Given the description of an element on the screen output the (x, y) to click on. 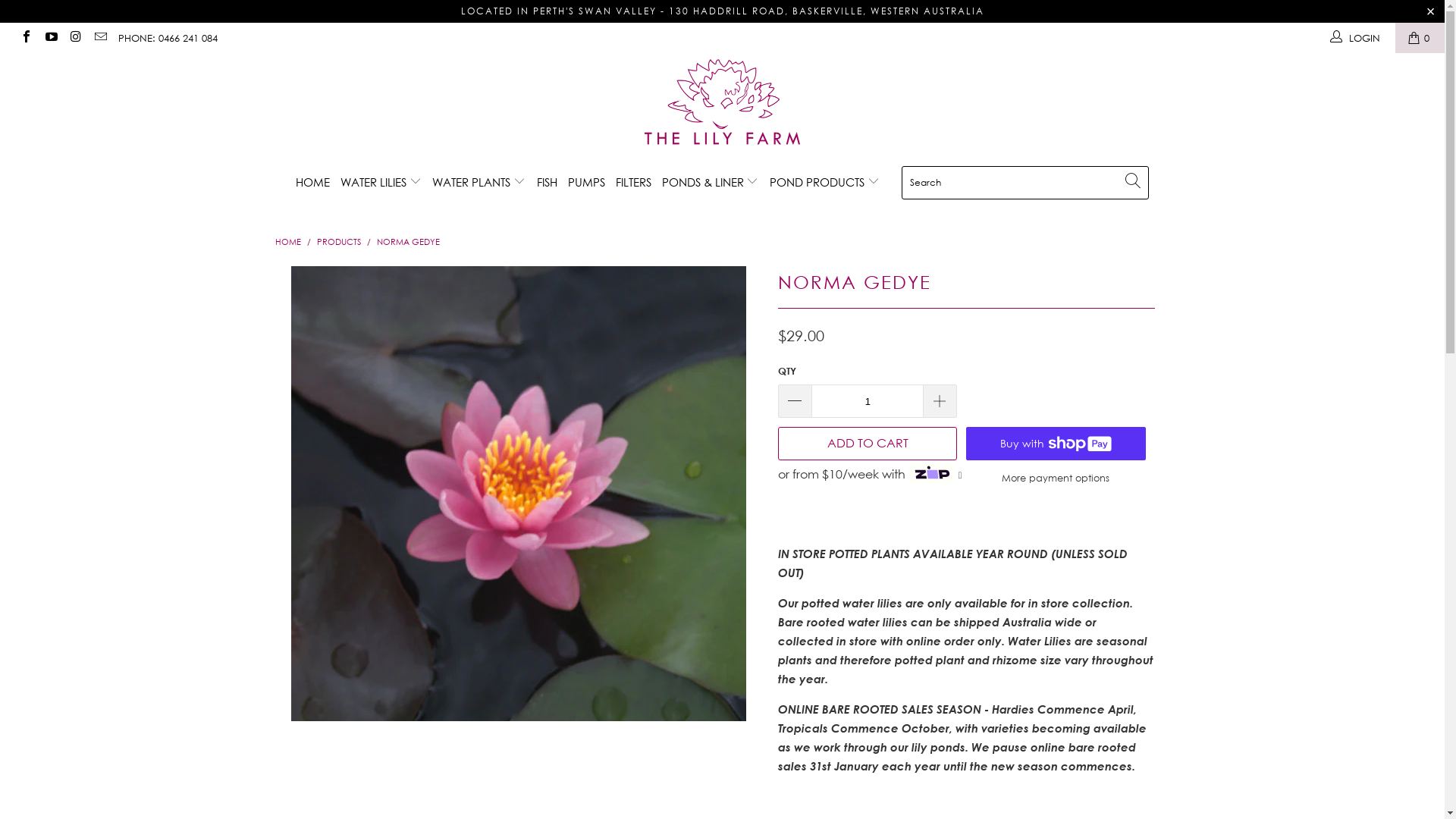
WATER PLANTS Element type: text (478, 181)
PHONE: 0466 241 084 Element type: text (167, 37)
The Lily Farm on Facebook Element type: hover (25, 37)
WATER LILIES Element type: text (380, 181)
LOGIN Element type: text (1355, 37)
The Lily Farm Element type: hover (722, 103)
More payment options Element type: text (1055, 476)
ADD TO CART Element type: text (867, 443)
FISH Element type: text (546, 181)
PRODUCTS Element type: text (339, 241)
PONDS & LINER Element type: text (710, 181)
The Lily Farm on Instagram Element type: hover (74, 37)
Email The Lily Farm Element type: hover (99, 37)
HOME Element type: text (287, 241)
HOME Element type: text (312, 181)
POND PRODUCTS Element type: text (824, 181)
The Lily Farm on YouTube Element type: hover (49, 37)
0 Element type: text (1419, 37)
NORMA GEDYE Element type: text (407, 241)
FILTERS Element type: text (633, 181)
PUMPS Element type: text (586, 181)
